Given the description of an element on the screen output the (x, y) to click on. 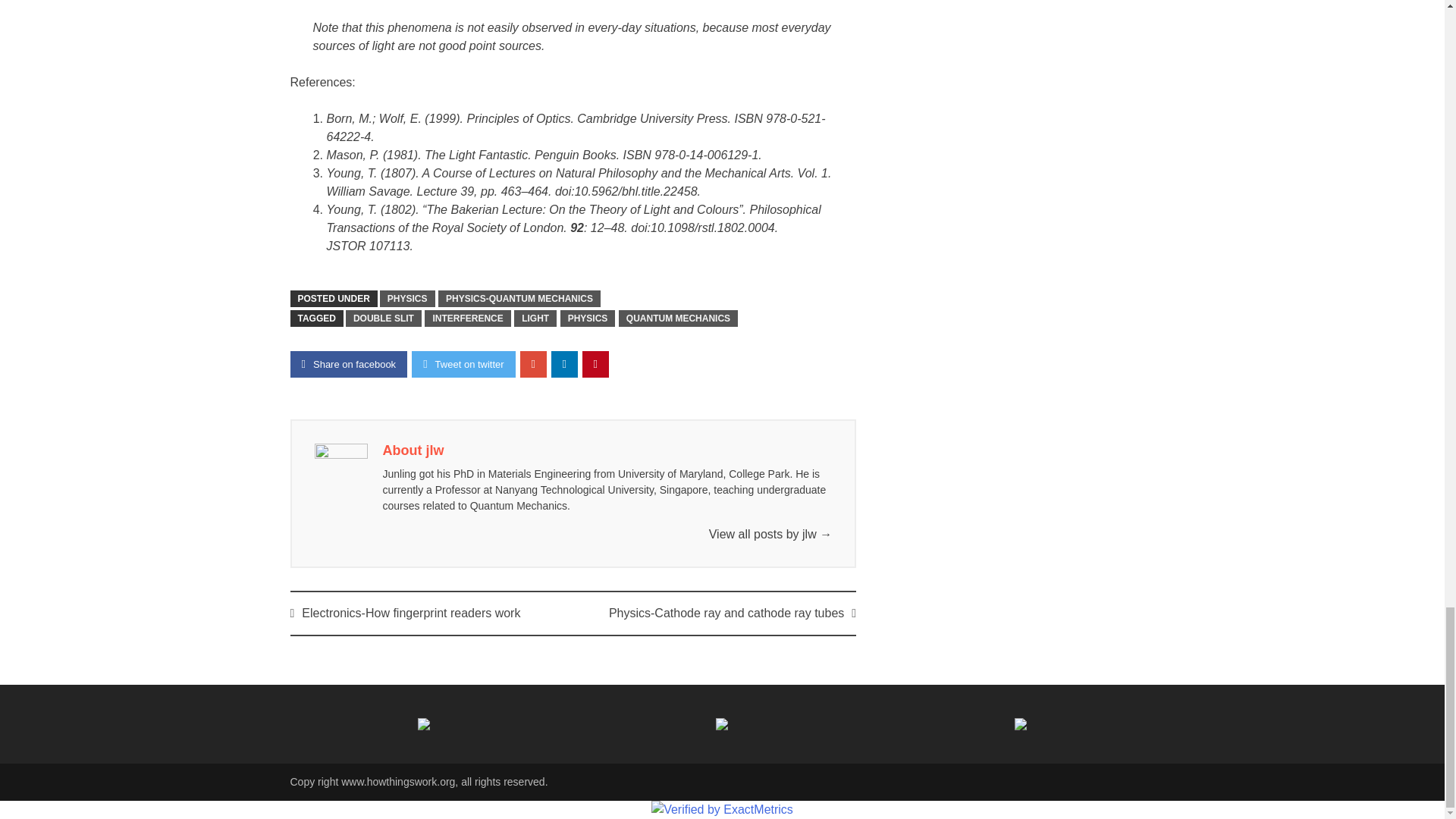
PHYSICS-QUANTUM MECHANICS (518, 298)
PHYSICS (407, 298)
